Given the description of an element on the screen output the (x, y) to click on. 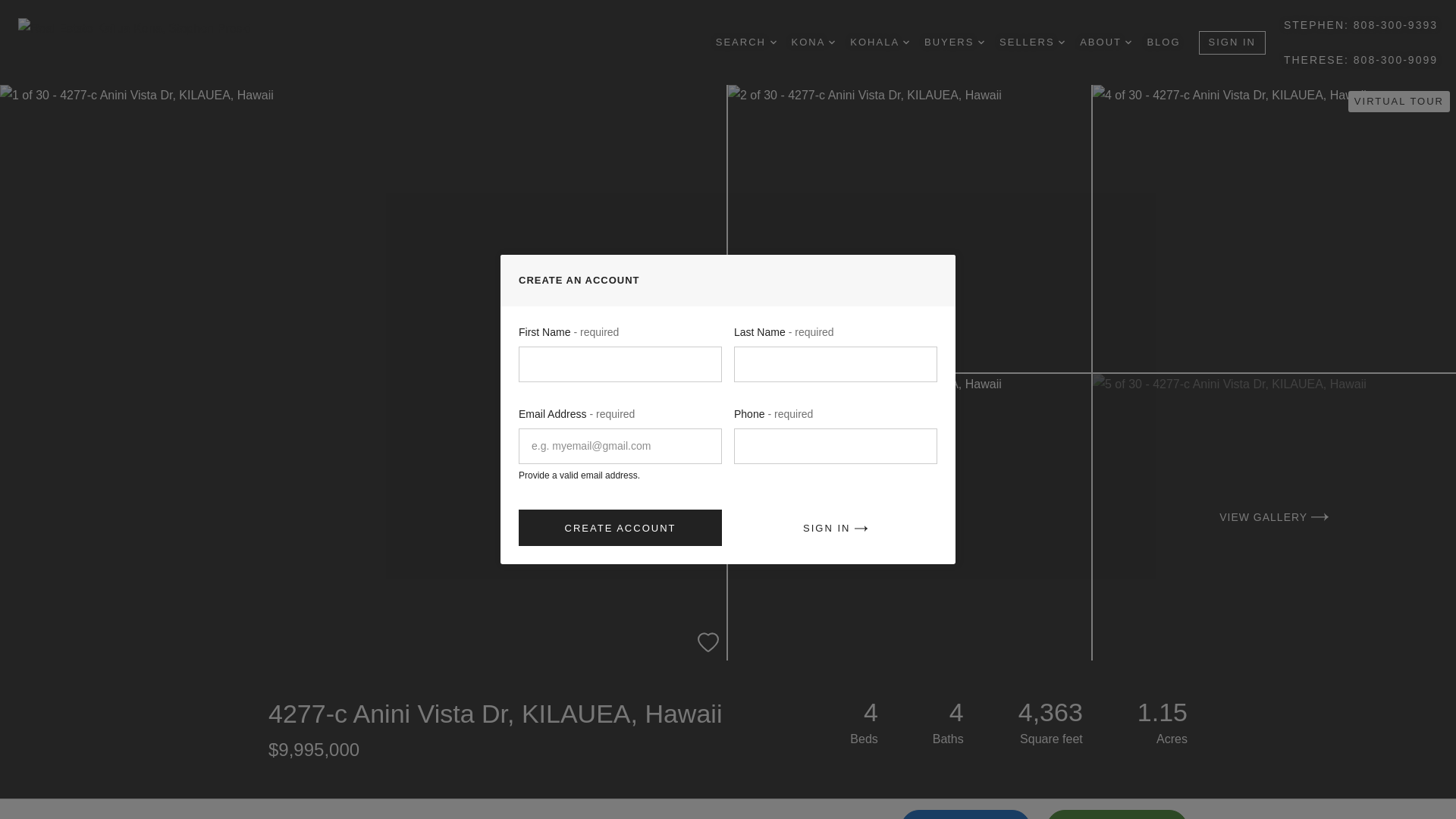
DROPDOWN ARROW (773, 42)
KOHALA DROPDOWN ARROW (879, 42)
DROPDOWN ARROW (1061, 42)
DROPDOWN ARROW (831, 42)
SEARCH DROPDOWN ARROW (746, 42)
DROPDOWN ARROW (1128, 42)
KONA DROPDOWN ARROW (813, 42)
BUYERS DROPDOWN ARROW (954, 42)
DROPDOWN ARROW (905, 42)
DROPDOWN ARROW (981, 42)
